Given the description of an element on the screen output the (x, y) to click on. 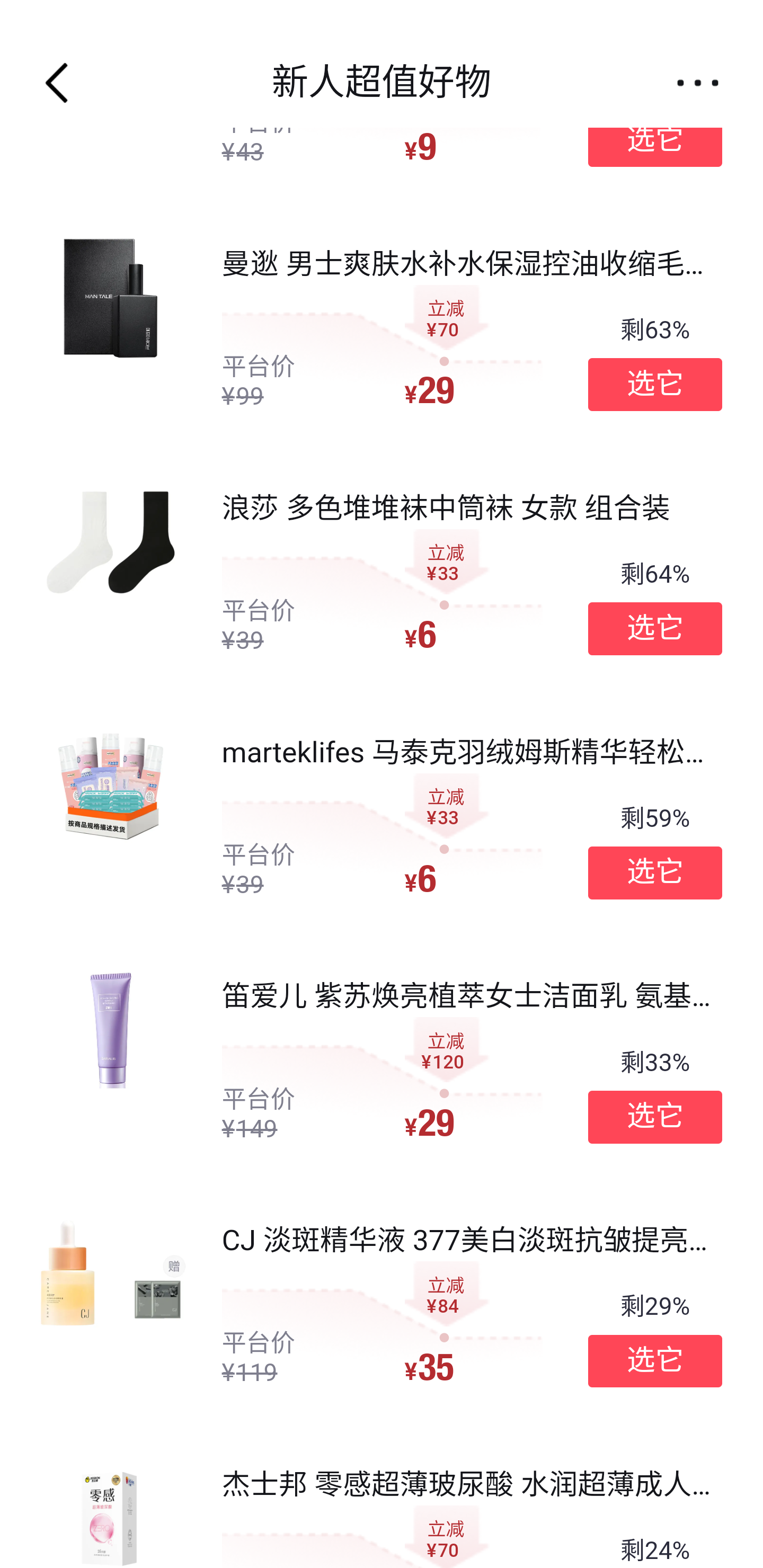
选它 (654, 139)
选它 (654, 383)
浪莎 多色堆堆袜中筒袜 女款 组合装 平台价 ¥ 39 立减¥33 ¥ 6 剩64% 选它 (381, 573)
选它 (654, 629)
选它 (654, 872)
选它 (654, 1116)
选它 (654, 1360)
杰士邦 零感超薄玻尿酸 水润超薄成人用品 情趣用品面膜级 不油腻 易清洗 避孕套 16只 剩24% (381, 1497)
